Given the description of an element on the screen output the (x, y) to click on. 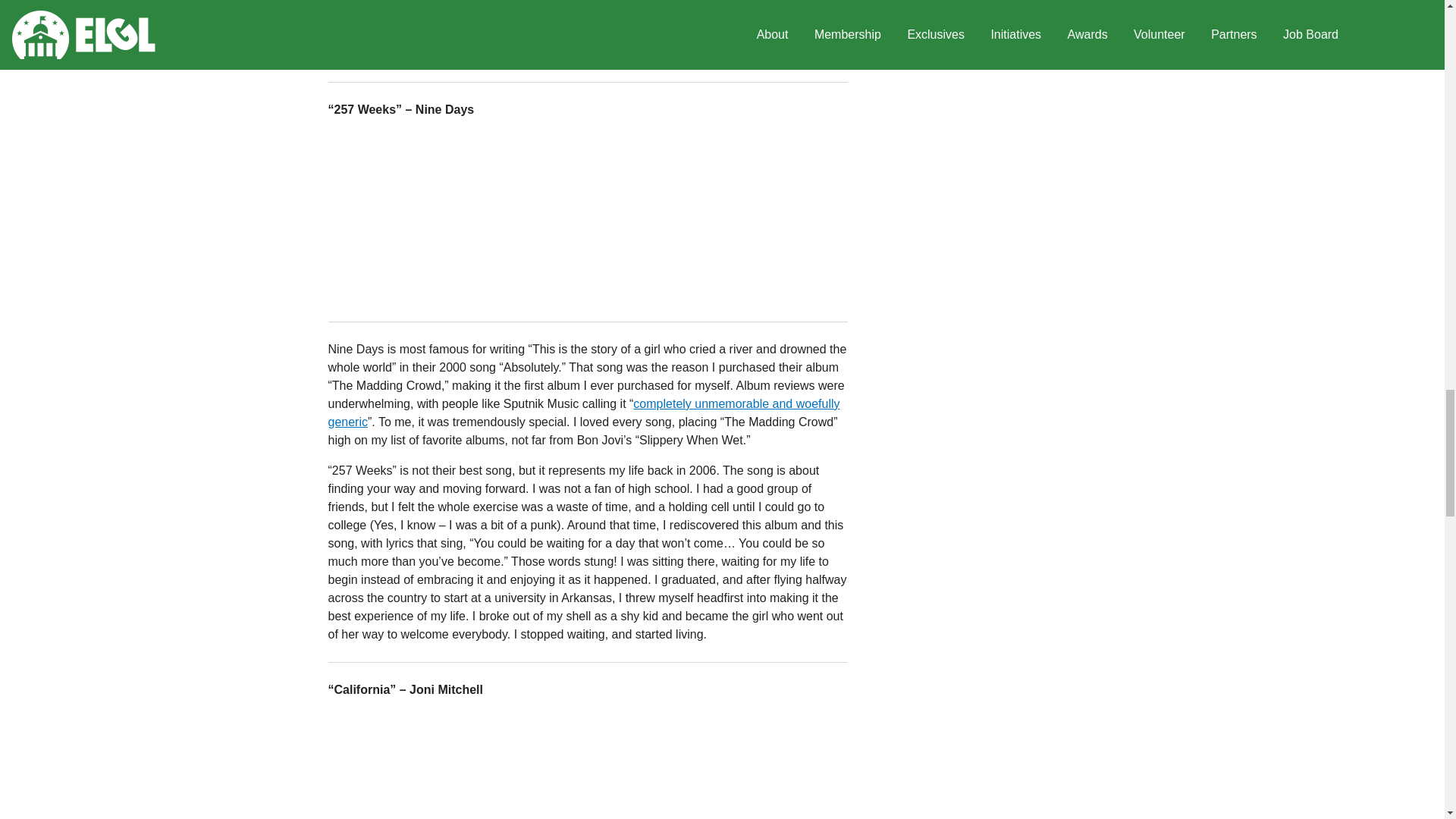
completely unmemorable and woefully generic (583, 412)
